Given the description of an element on the screen output the (x, y) to click on. 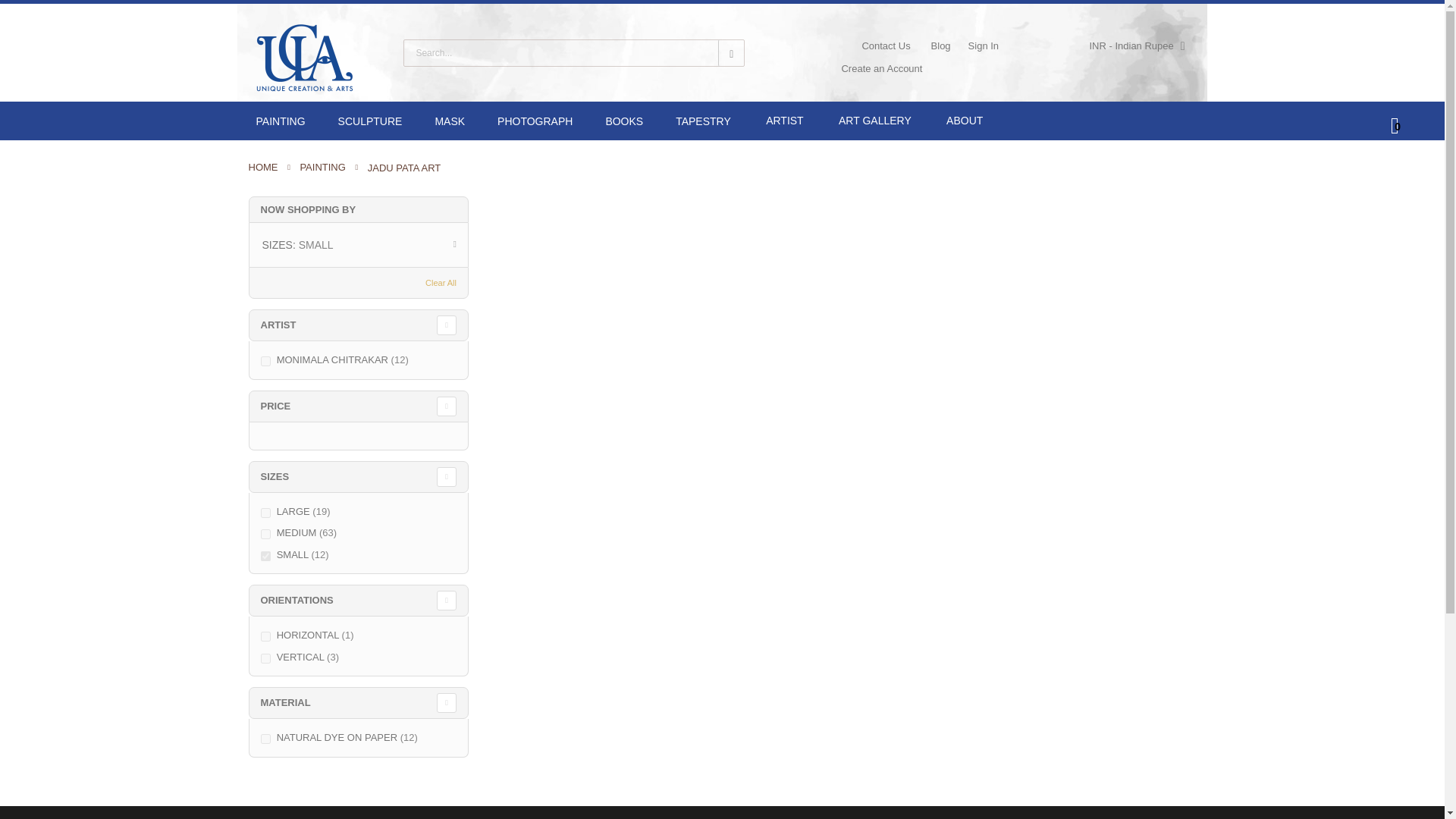
on (265, 556)
Contact Us (885, 45)
Create an Account (881, 68)
Blog (940, 45)
on (265, 512)
Painting (280, 120)
on (265, 533)
on (265, 658)
on (265, 361)
Sign In (983, 45)
